Given the description of an element on the screen output the (x, y) to click on. 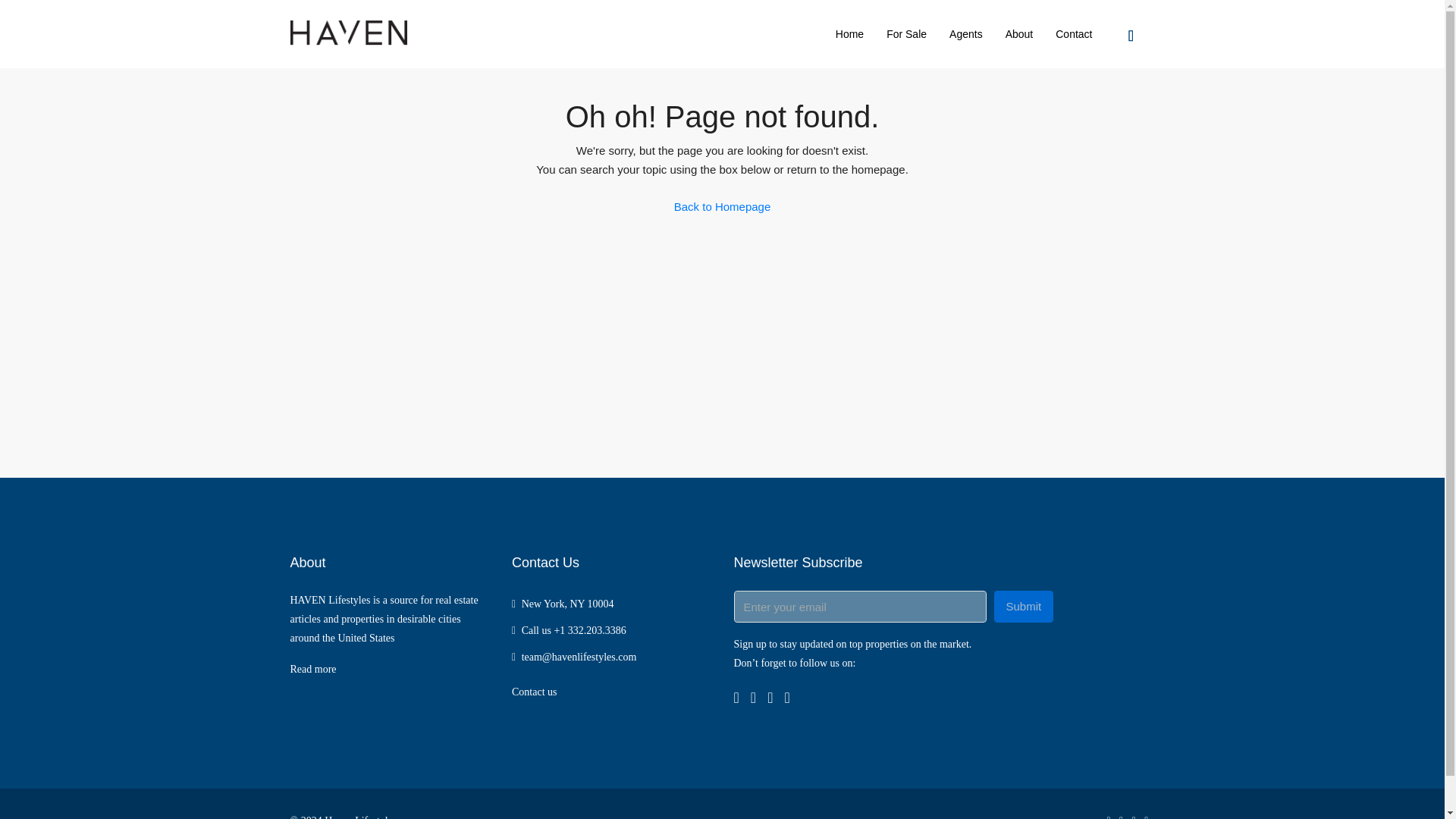
Contact us (534, 691)
Back to Homepage (722, 206)
Submit (1022, 606)
Read more (312, 668)
For Sale (906, 33)
